Given the description of an element on the screen output the (x, y) to click on. 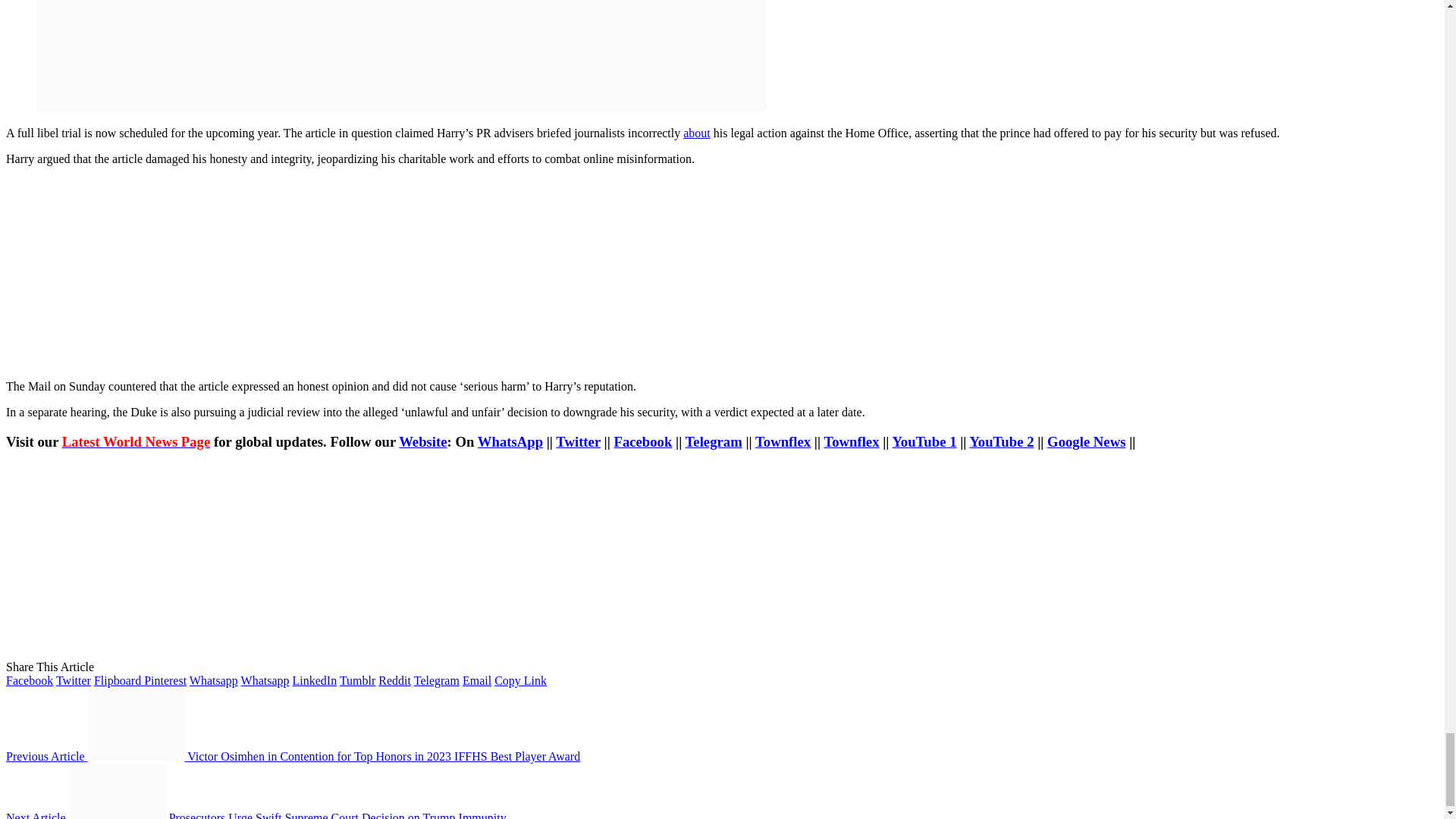
About Townflex.com entertainment news website (696, 132)
